Given the description of an element on the screen output the (x, y) to click on. 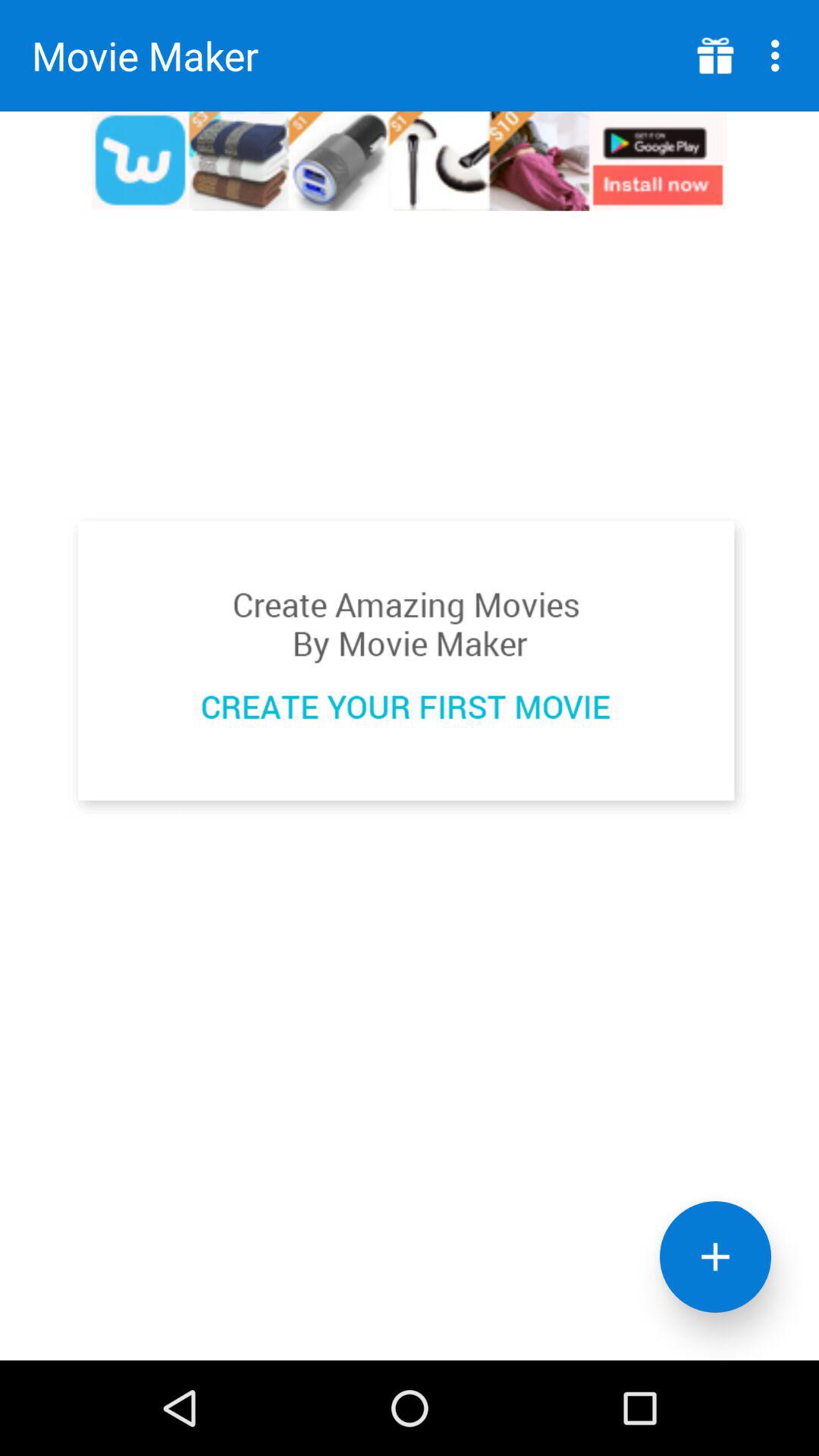
gift (715, 55)
